Given the description of an element on the screen output the (x, y) to click on. 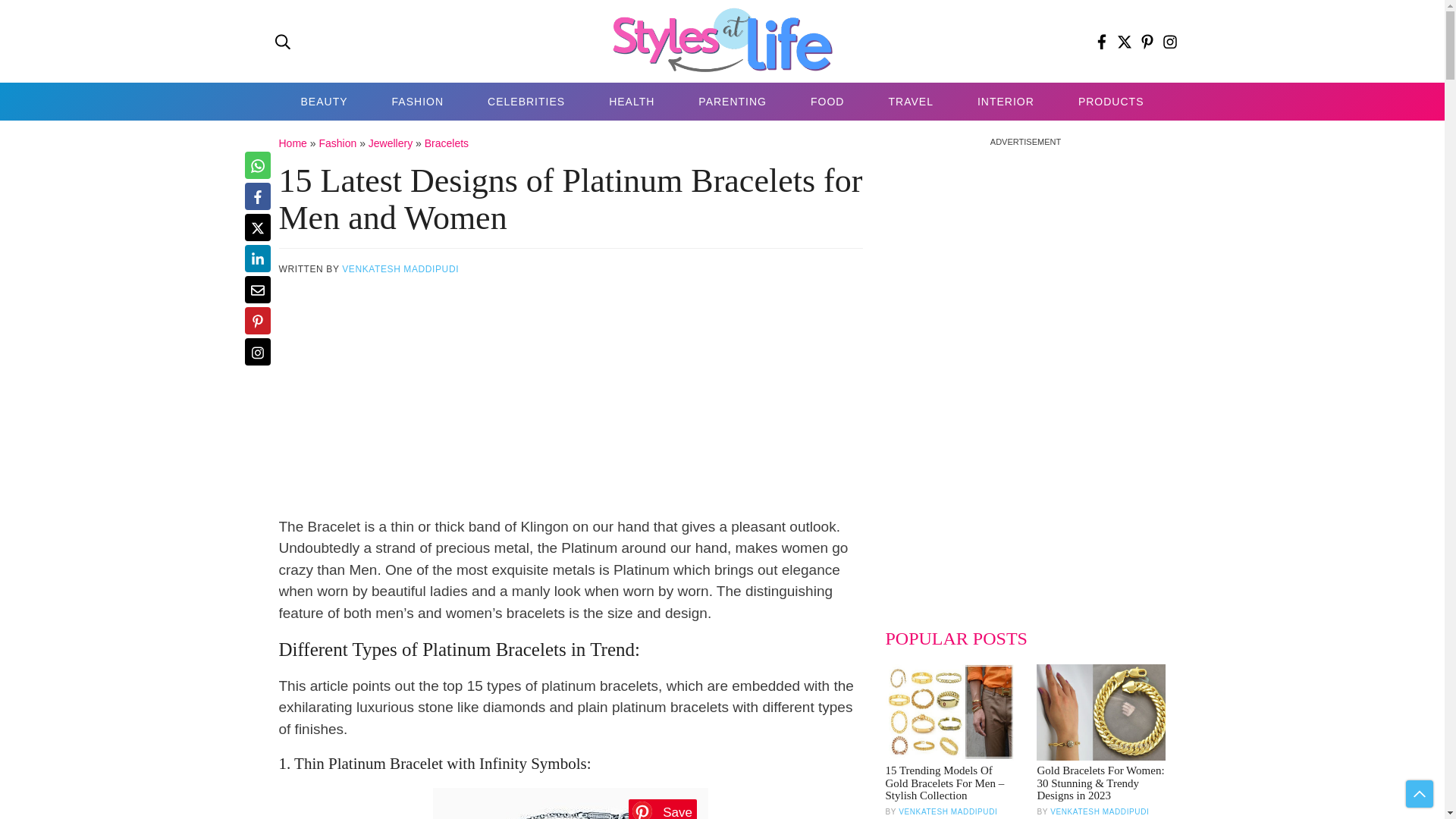
VENKATESH MADDIPUDI (400, 268)
HEALTH (631, 101)
Posts by Venkatesh Maddipudi (400, 268)
INTERIOR (1006, 101)
TRAVEL (910, 101)
Jewellery (390, 143)
PRODUCTS (1111, 101)
BEAUTY (324, 101)
Bracelets (446, 143)
CELEBRITIES (525, 101)
